Given the description of an element on the screen output the (x, y) to click on. 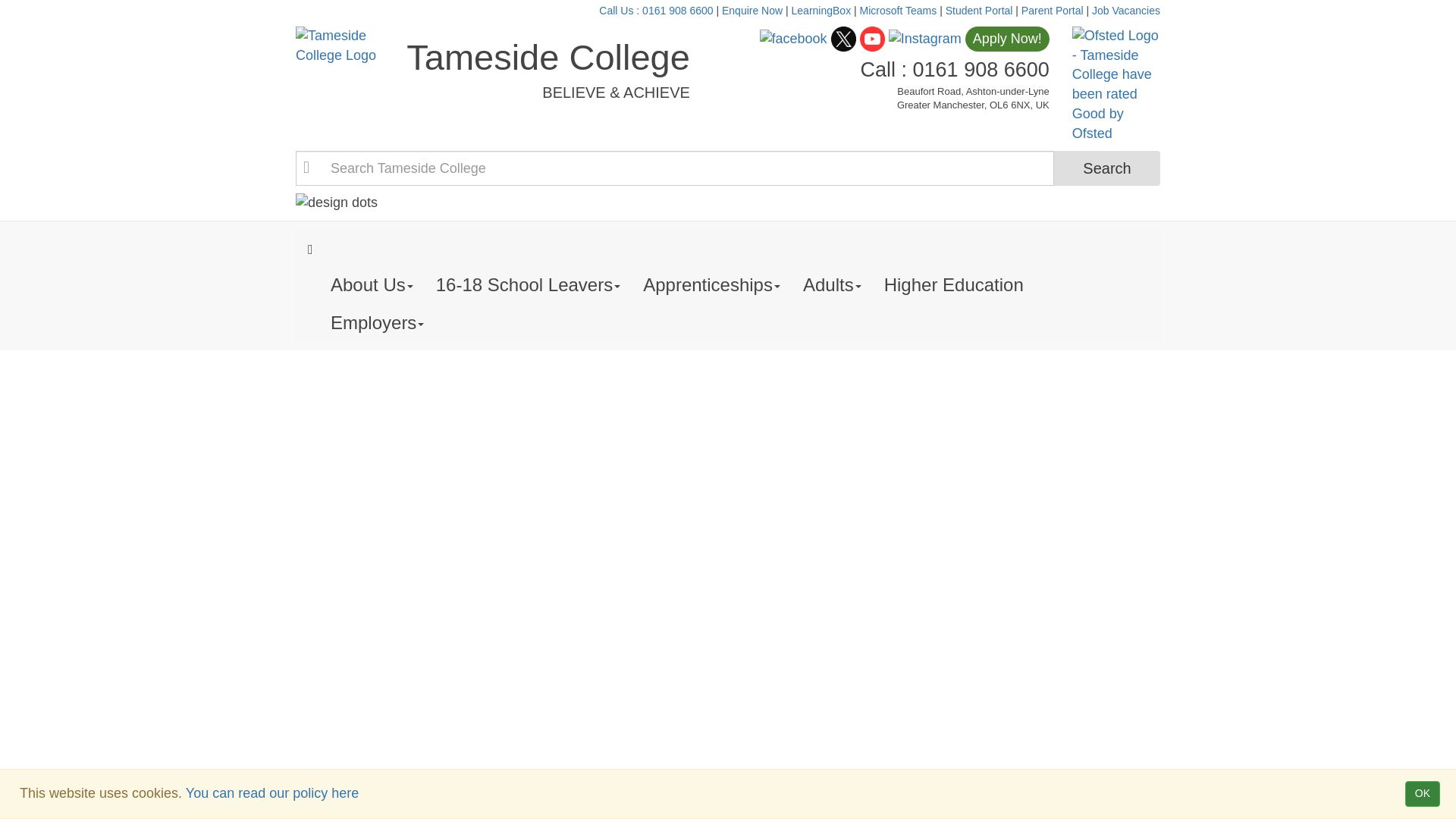
LearningBox (821, 10)
Apply Now! (1007, 37)
About Us (371, 284)
Parent Portal (1052, 10)
Enquire Now (752, 10)
Call Us : 0161 908 6600 (655, 10)
Microsoft Teams (898, 10)
16-18 School Leavers (528, 284)
Search (1107, 167)
Student Portal (978, 10)
Job Vacancies (1126, 10)
